Given the description of an element on the screen output the (x, y) to click on. 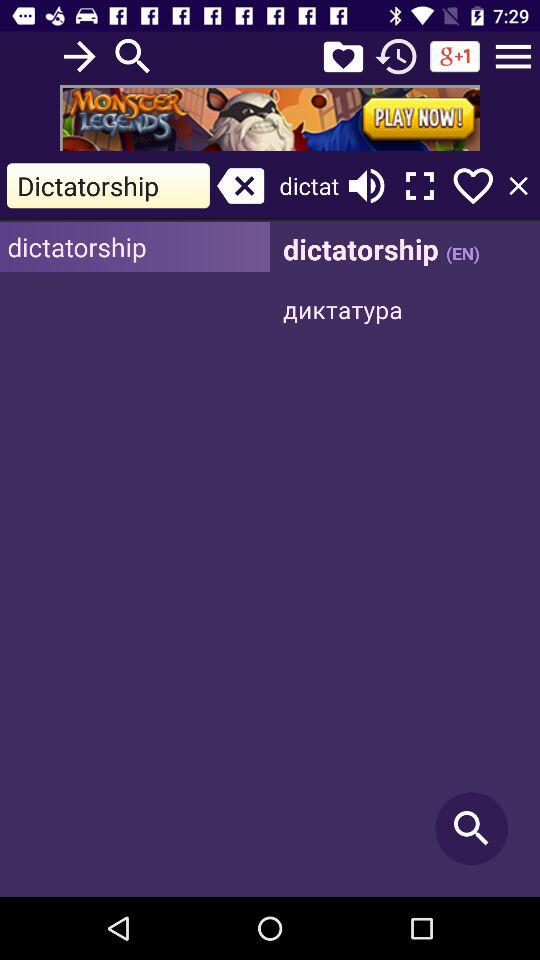
play game (270, 117)
